Given the description of an element on the screen output the (x, y) to click on. 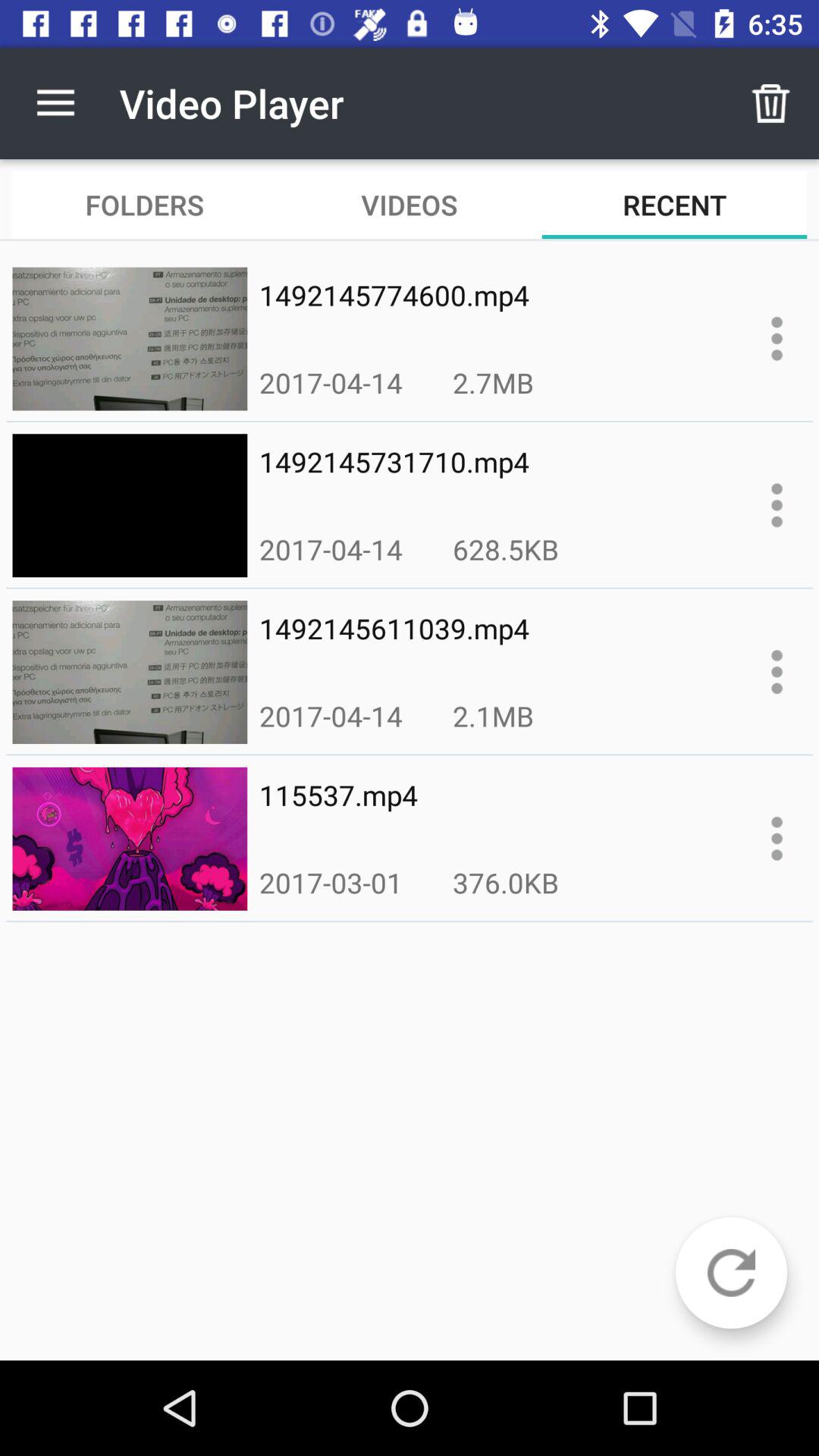
more (776, 338)
